Given the description of an element on the screen output the (x, y) to click on. 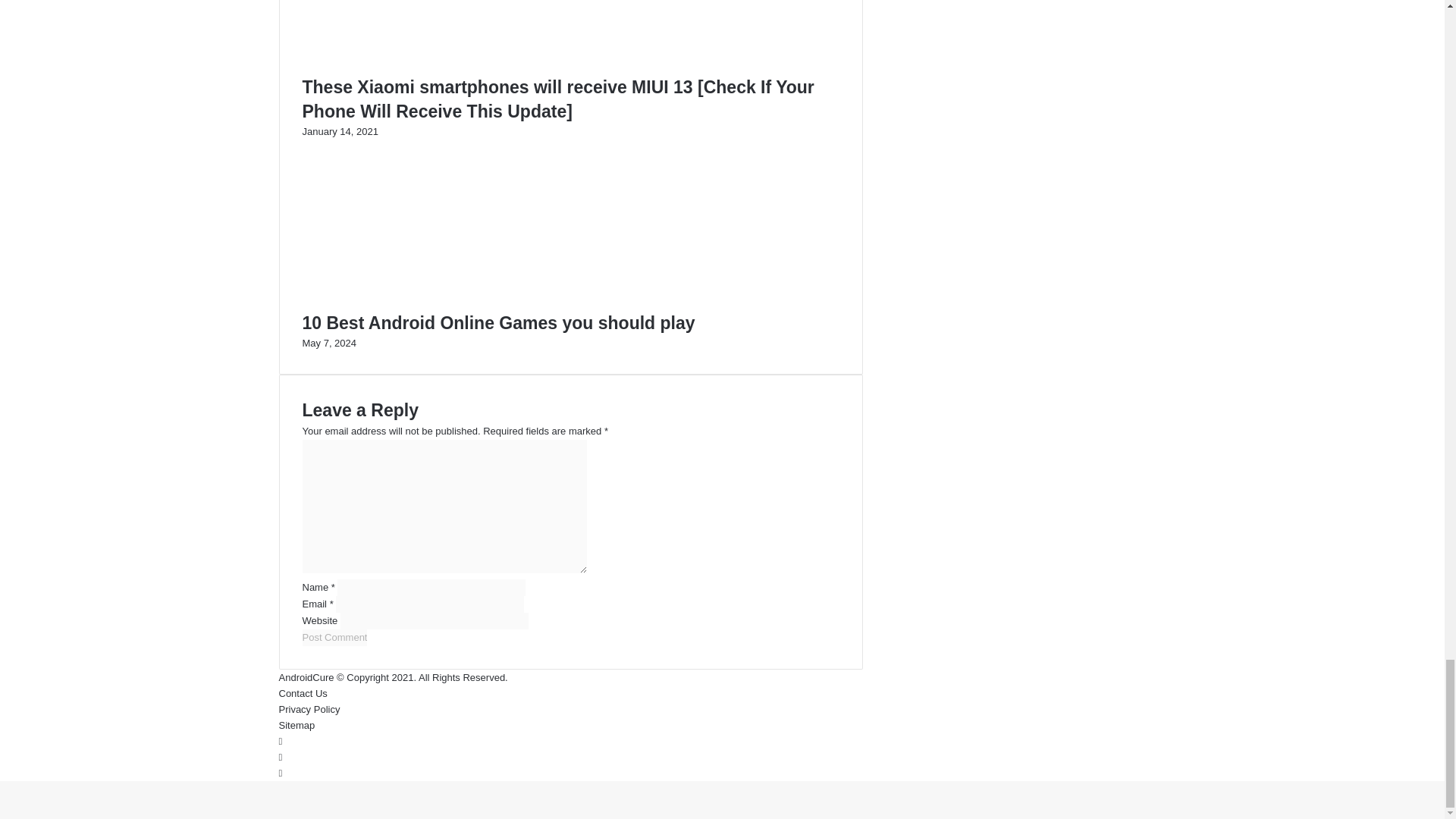
Post Comment (333, 637)
